Given the description of an element on the screen output the (x, y) to click on. 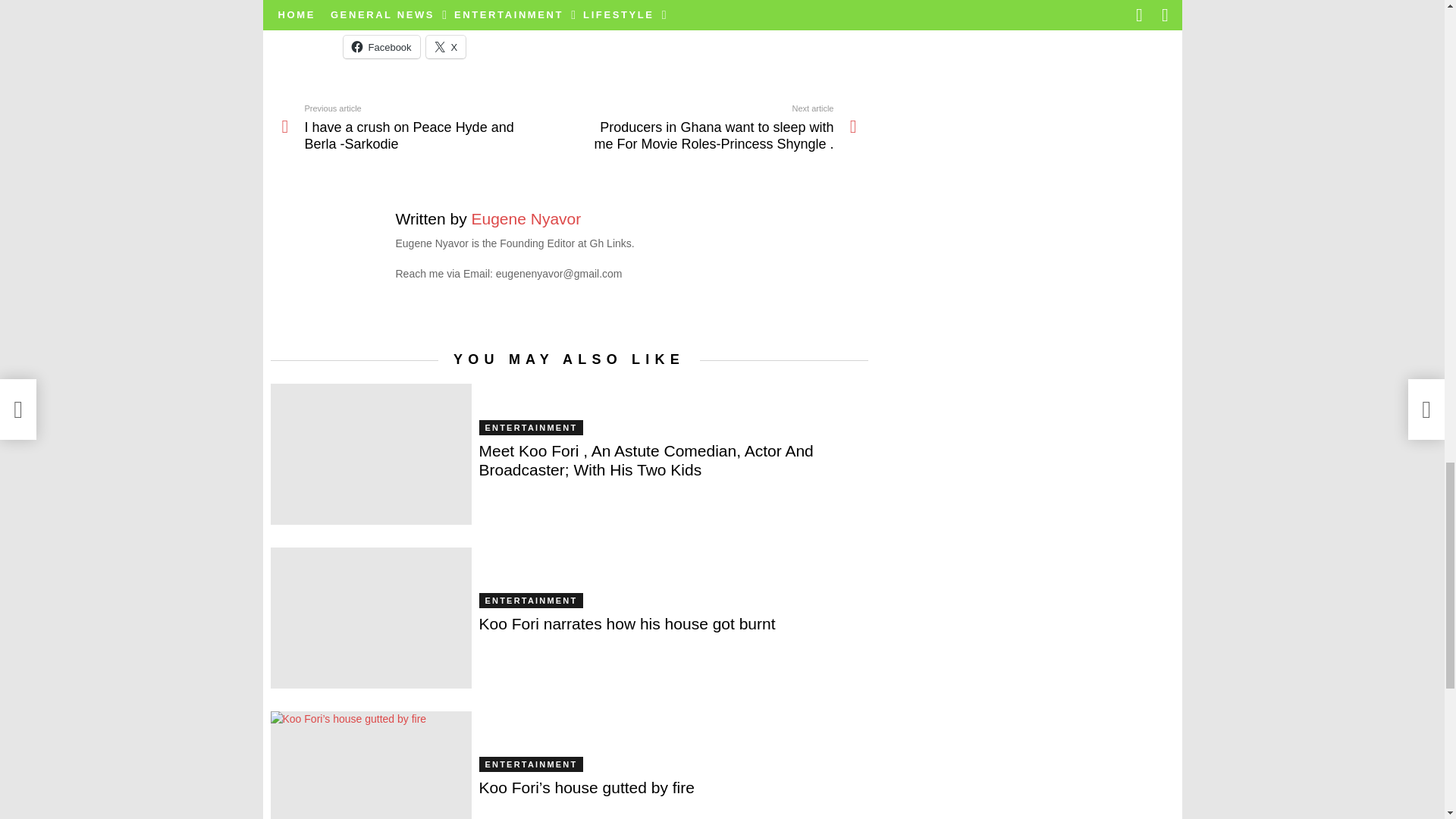
Facebook (380, 47)
Click to share on Facebook (380, 47)
ENTERTAINMENT (531, 600)
X (445, 47)
Click to share on X (445, 47)
Koo Fori narrates how his house got burnt (369, 617)
Eugene Nyavor (525, 218)
ENTERTAINMENT (531, 427)
